Given the description of an element on the screen output the (x, y) to click on. 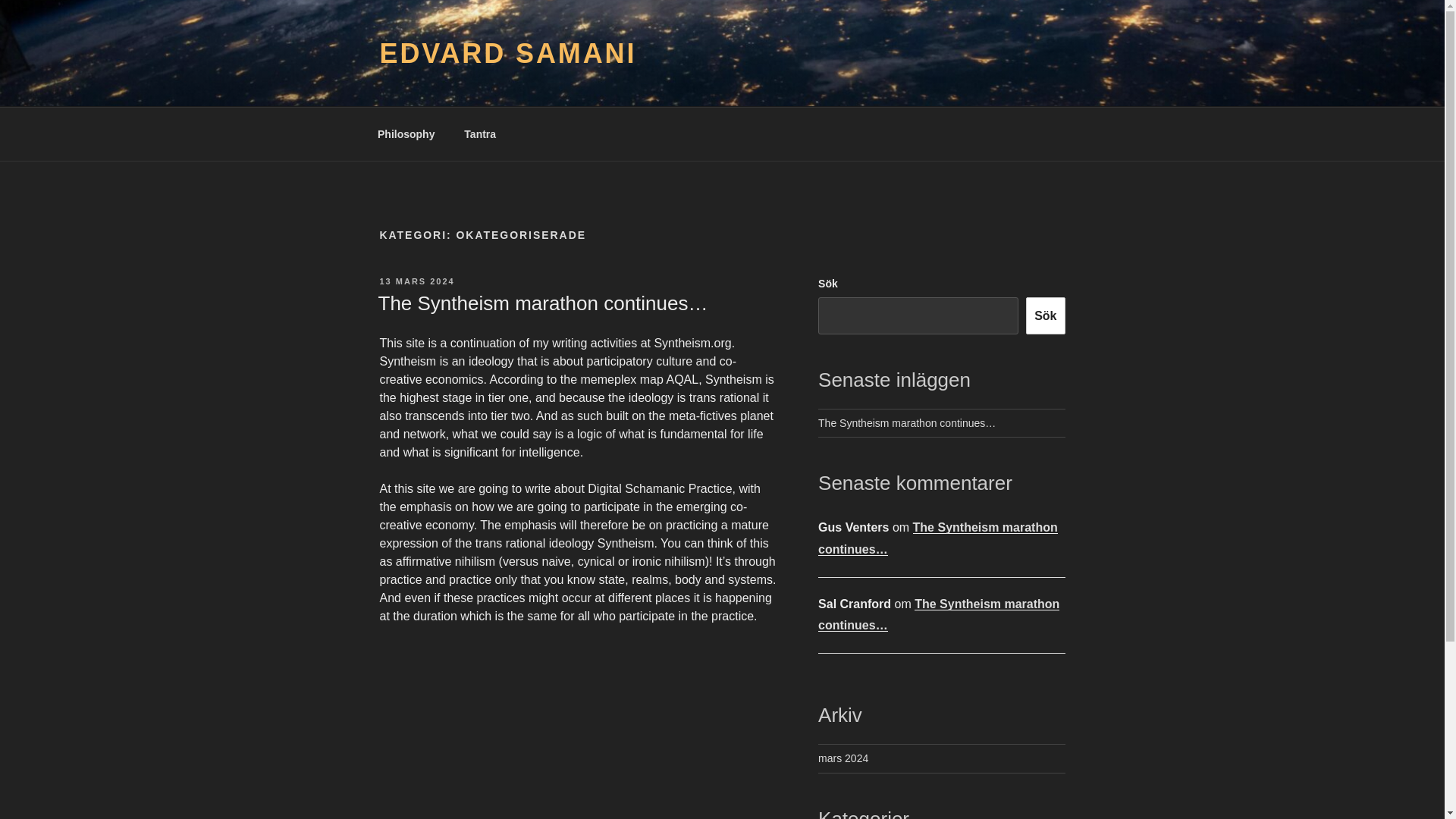
EDVARD SAMANI (507, 52)
mars 2024 (842, 758)
Tantra (480, 133)
13 MARS 2024 (416, 280)
Philosophy (405, 133)
